Given the description of an element on the screen output the (x, y) to click on. 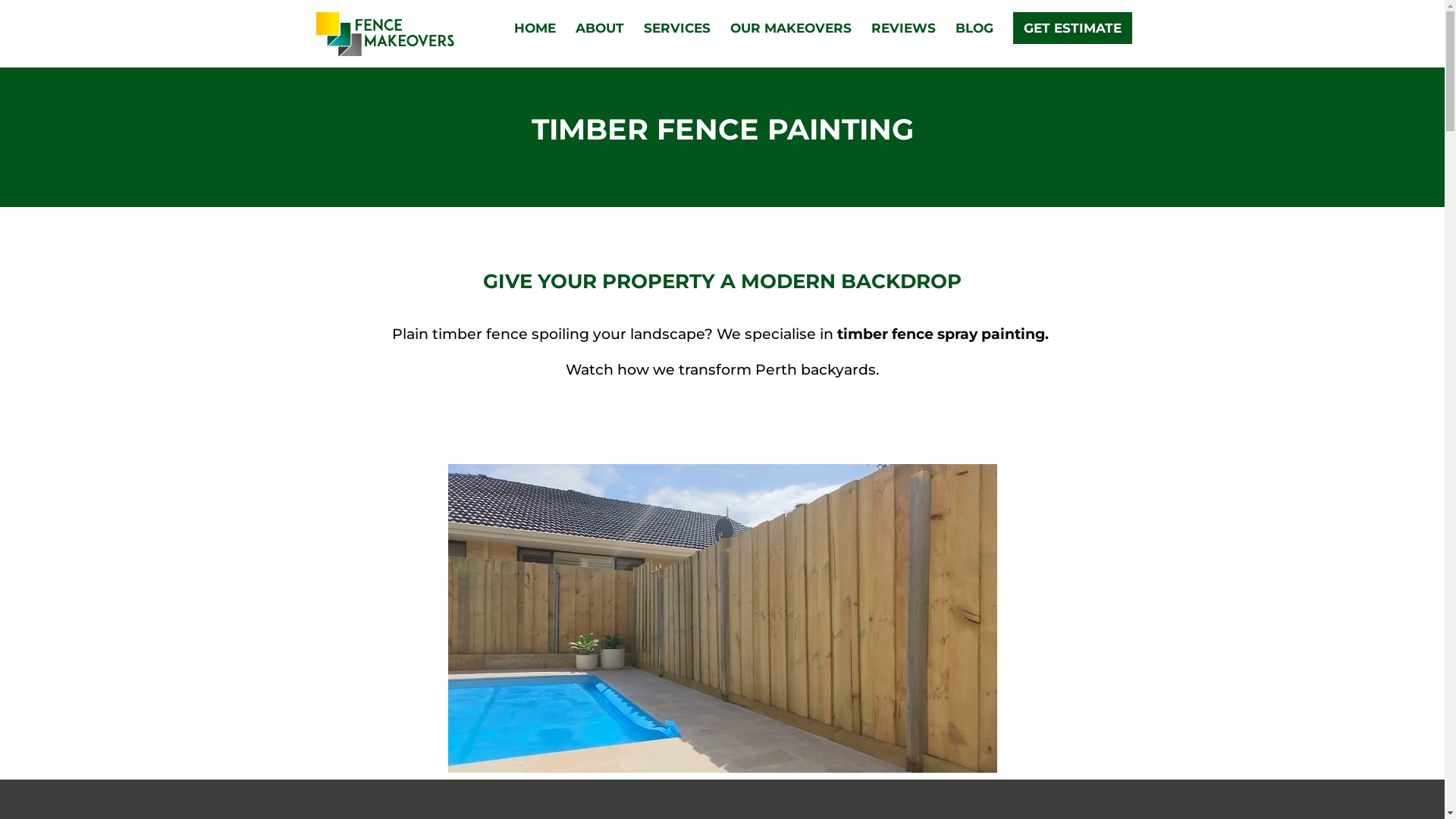
ABOUT Element type: text (598, 44)
REVIEWS Element type: text (902, 44)
GET ESTIMATE Element type: text (1072, 27)
BLOG Element type: text (974, 44)
SERVICES Element type: text (676, 44)
OUR MAKEOVERS Element type: text (789, 44)
HOME Element type: text (534, 44)
